Given the description of an element on the screen output the (x, y) to click on. 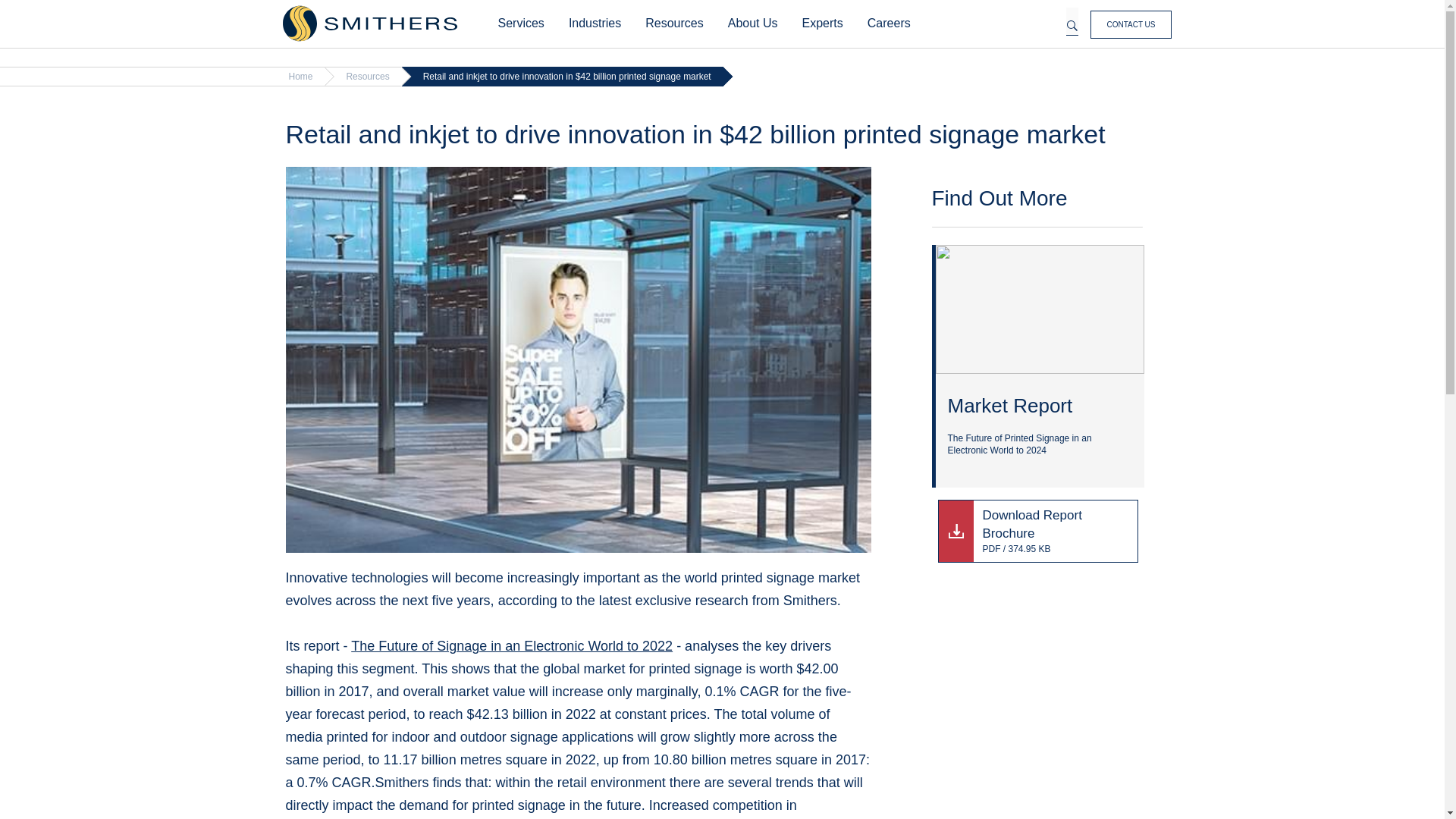
Industries (594, 23)
Home (369, 23)
Services (521, 23)
